Given the description of an element on the screen output the (x, y) to click on. 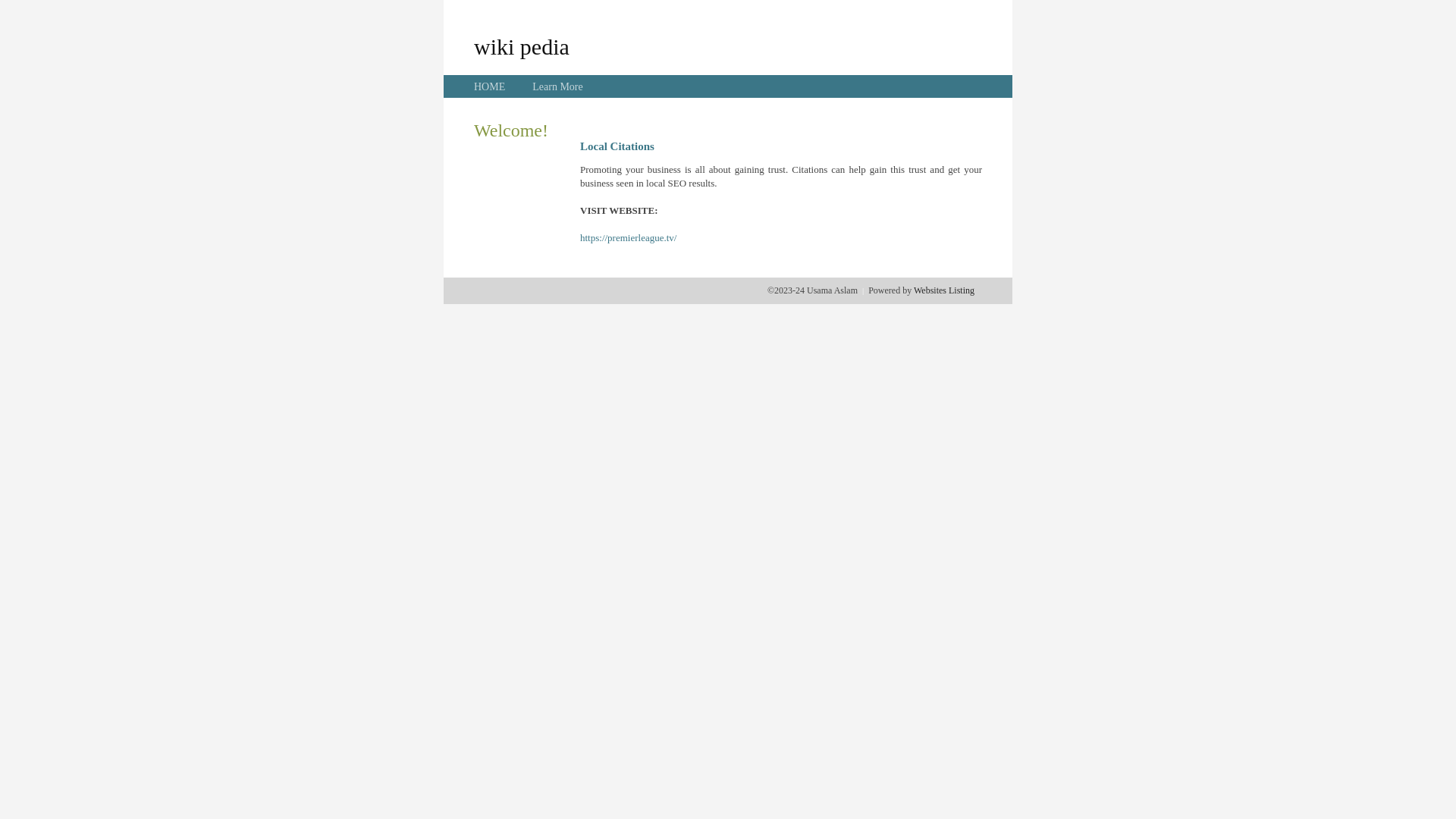
https://premierleague.tv/ Element type: text (628, 237)
Websites Listing Element type: text (943, 290)
wiki pedia Element type: text (521, 46)
HOME Element type: text (489, 86)
Learn More Element type: text (557, 86)
